Given the description of an element on the screen output the (x, y) to click on. 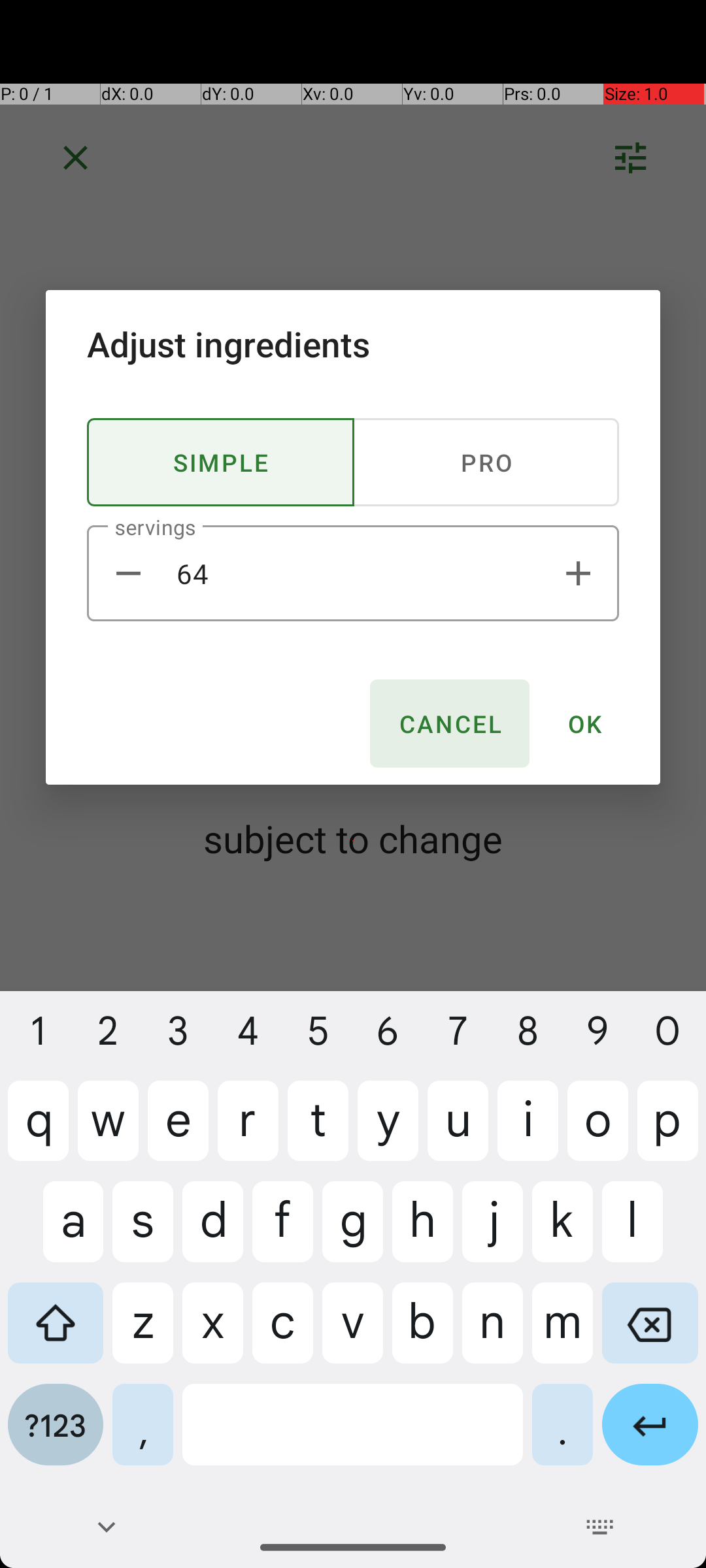
64 Element type: android.widget.EditText (352, 573)
